Given the description of an element on the screen output the (x, y) to click on. 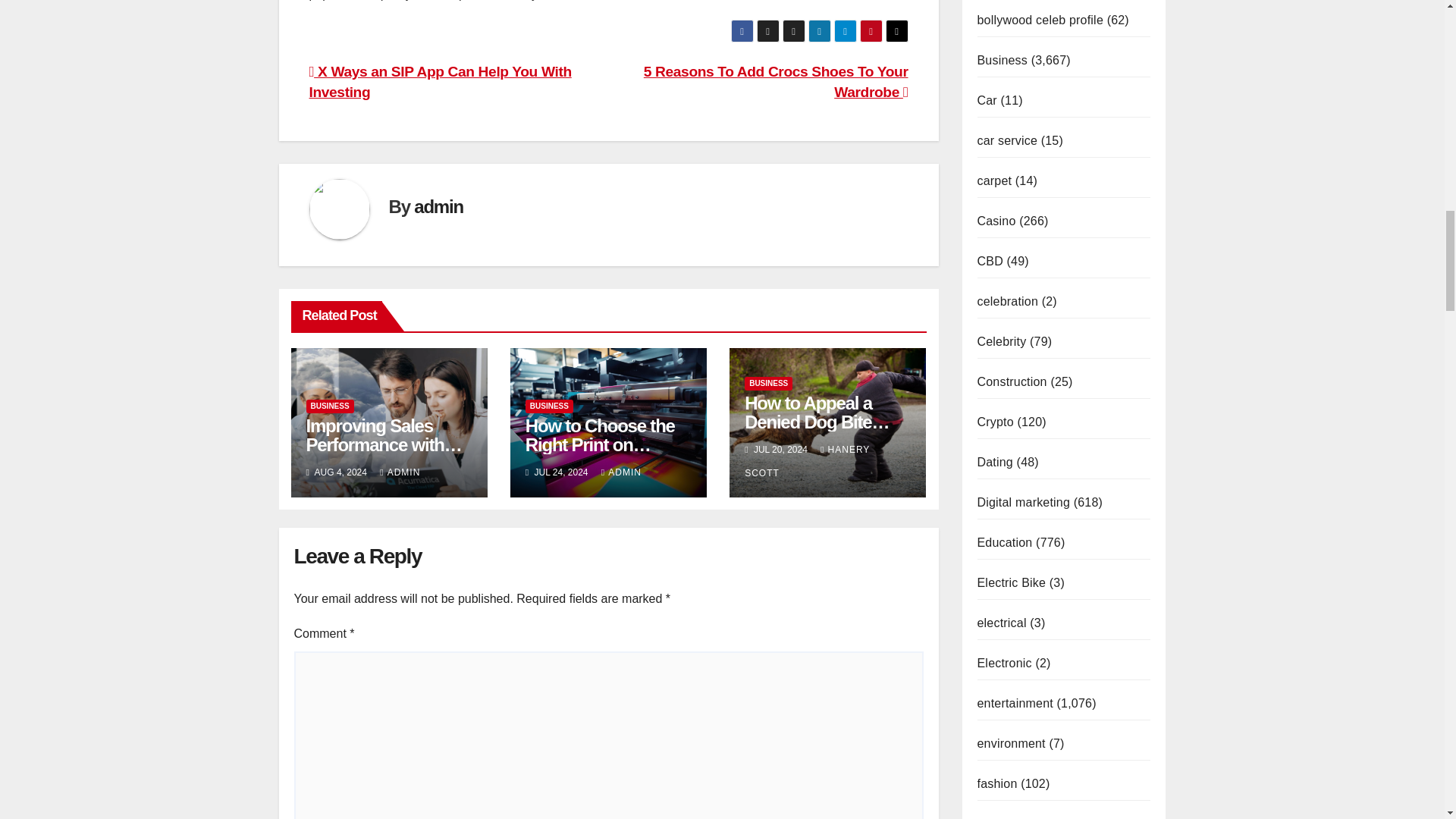
BUSINESS (329, 406)
X Ways an SIP App Can Help You With Investing (440, 81)
BUSINESS (549, 406)
ADMIN (400, 471)
5 Reasons To Add Crocs Shoes To Your Wardrobe (775, 81)
admin (438, 206)
Improving Sales Performance with ERP Acumatica (384, 444)
Permalink to: Improving Sales Performance with ERP Acumatica (384, 444)
